Given the description of an element on the screen output the (x, y) to click on. 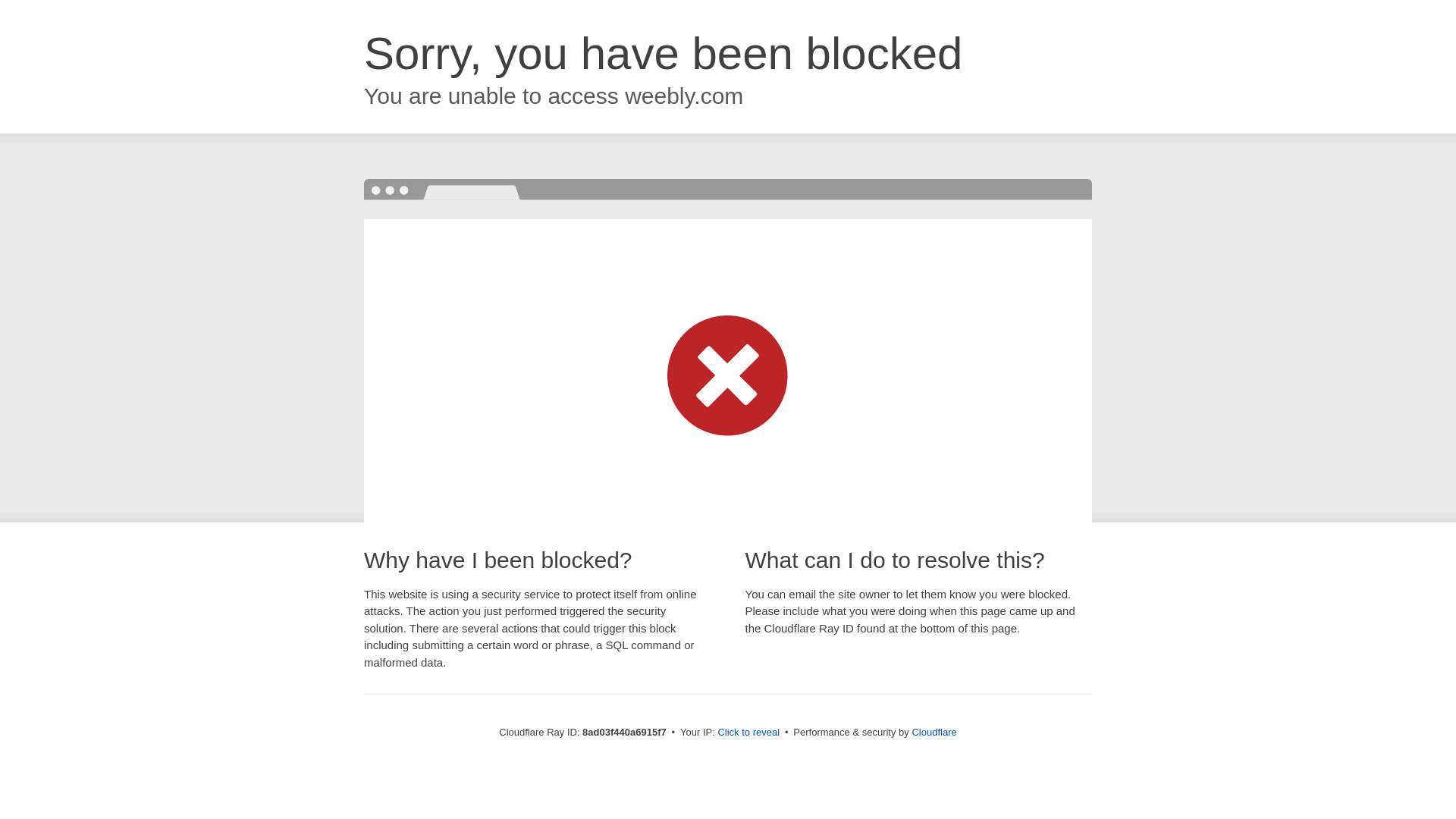
Click to reveal (747, 732)
Cloudflare (933, 731)
